Given the description of an element on the screen output the (x, y) to click on. 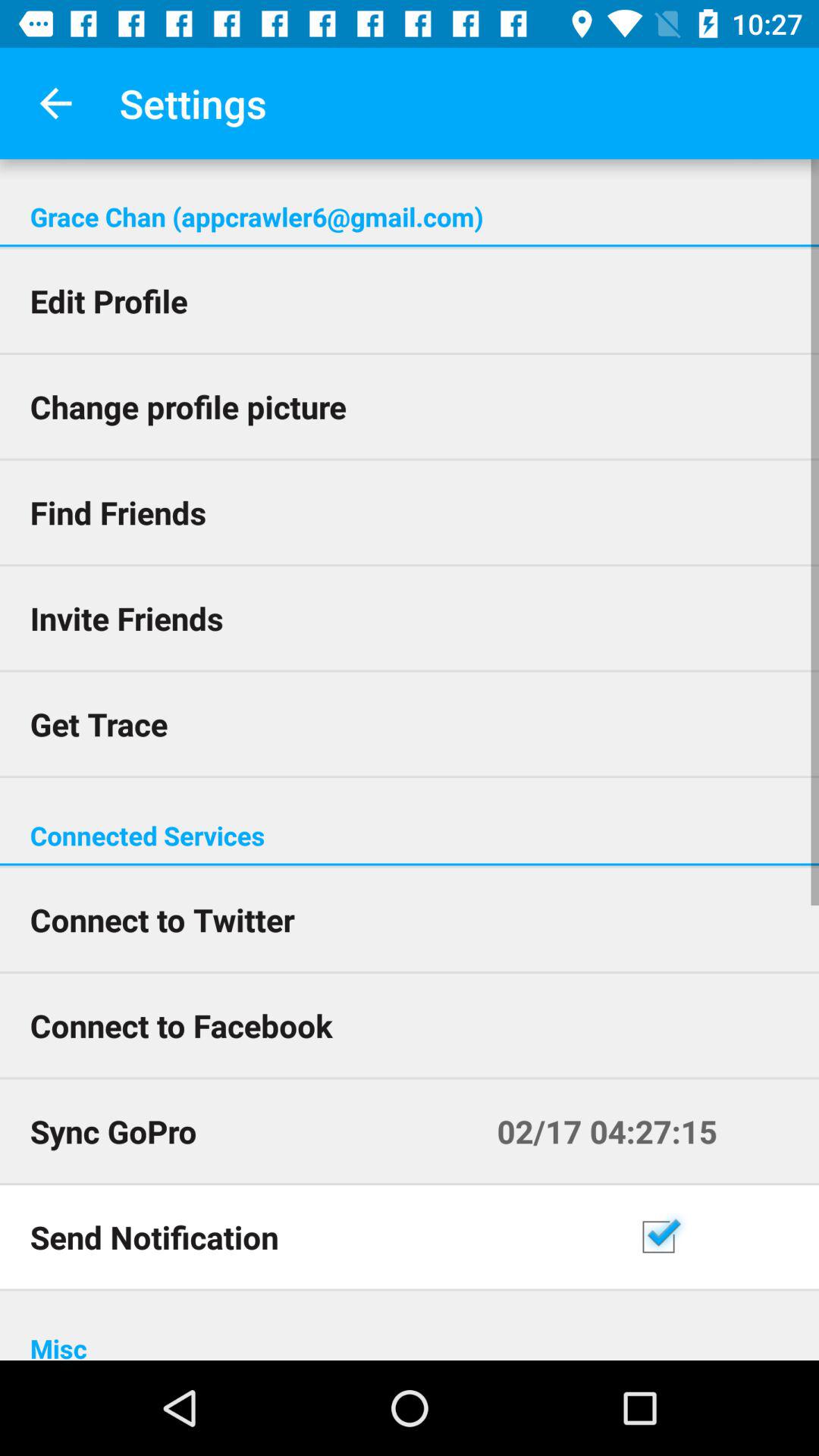
open item below connected services icon (409, 864)
